Given the description of an element on the screen output the (x, y) to click on. 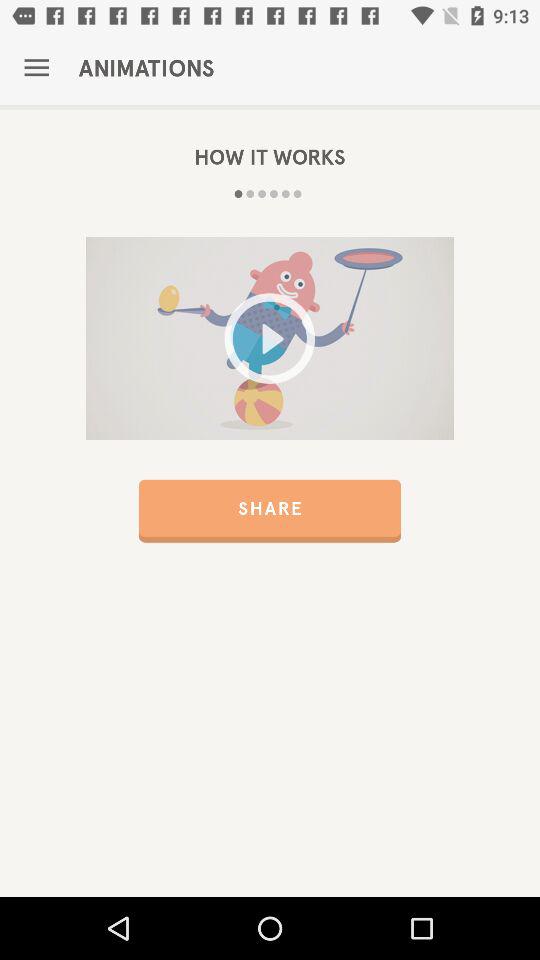
choose the icon to the left of animations (36, 68)
